Given the description of an element on the screen output the (x, y) to click on. 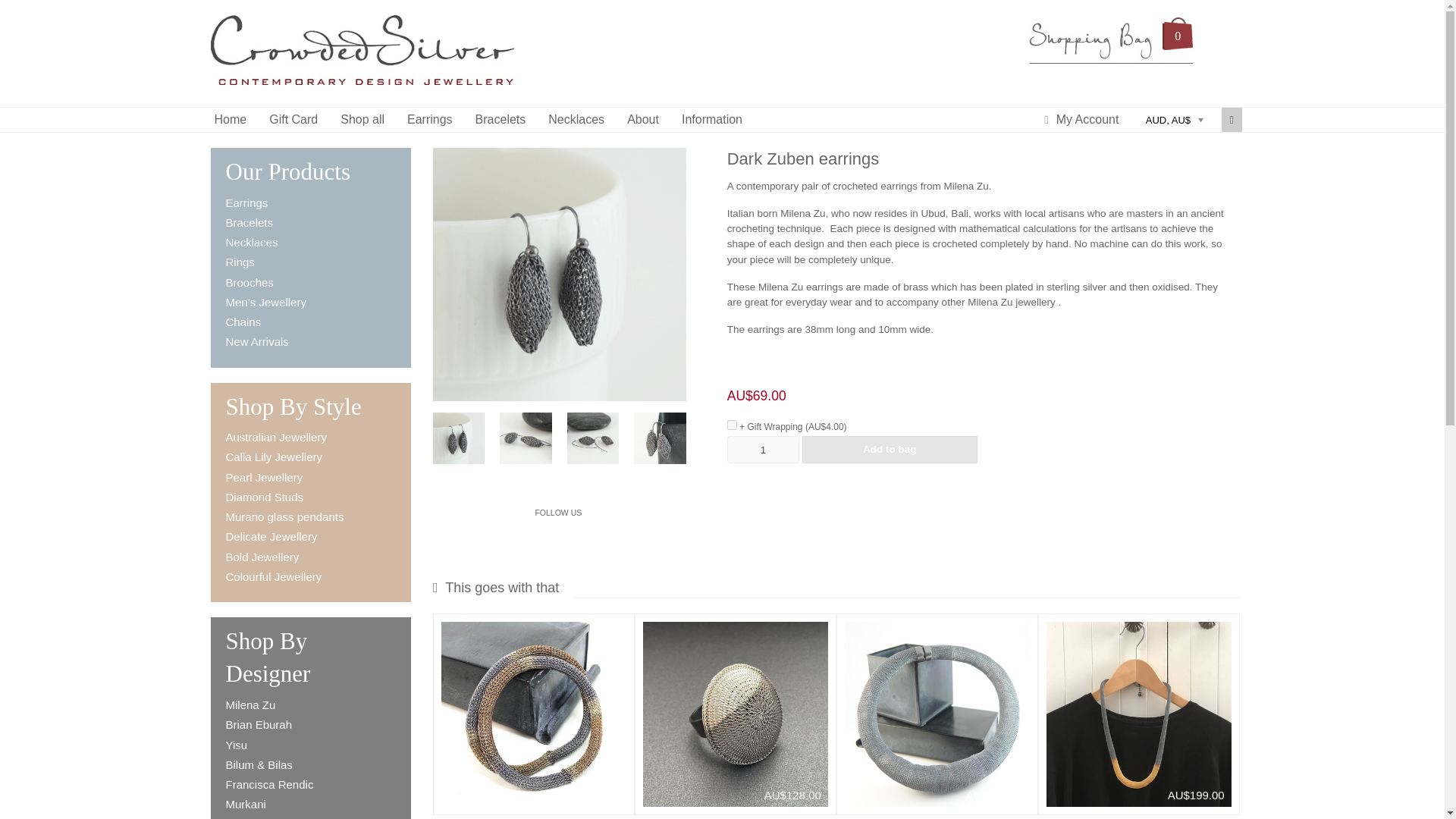
0 (1111, 39)
My Account (1087, 119)
Bracelets (500, 119)
Necklaces (251, 242)
Necklaces (576, 119)
About (642, 119)
Shop all (362, 119)
Dark Mirzam mesh necklace (936, 713)
Home (231, 119)
Crowded Silver Jewellery (362, 80)
Brooches (249, 282)
Bracelets (249, 222)
Dark Zuben earrings (525, 438)
Chains (243, 322)
1 (763, 449)
